Given the description of an element on the screen output the (x, y) to click on. 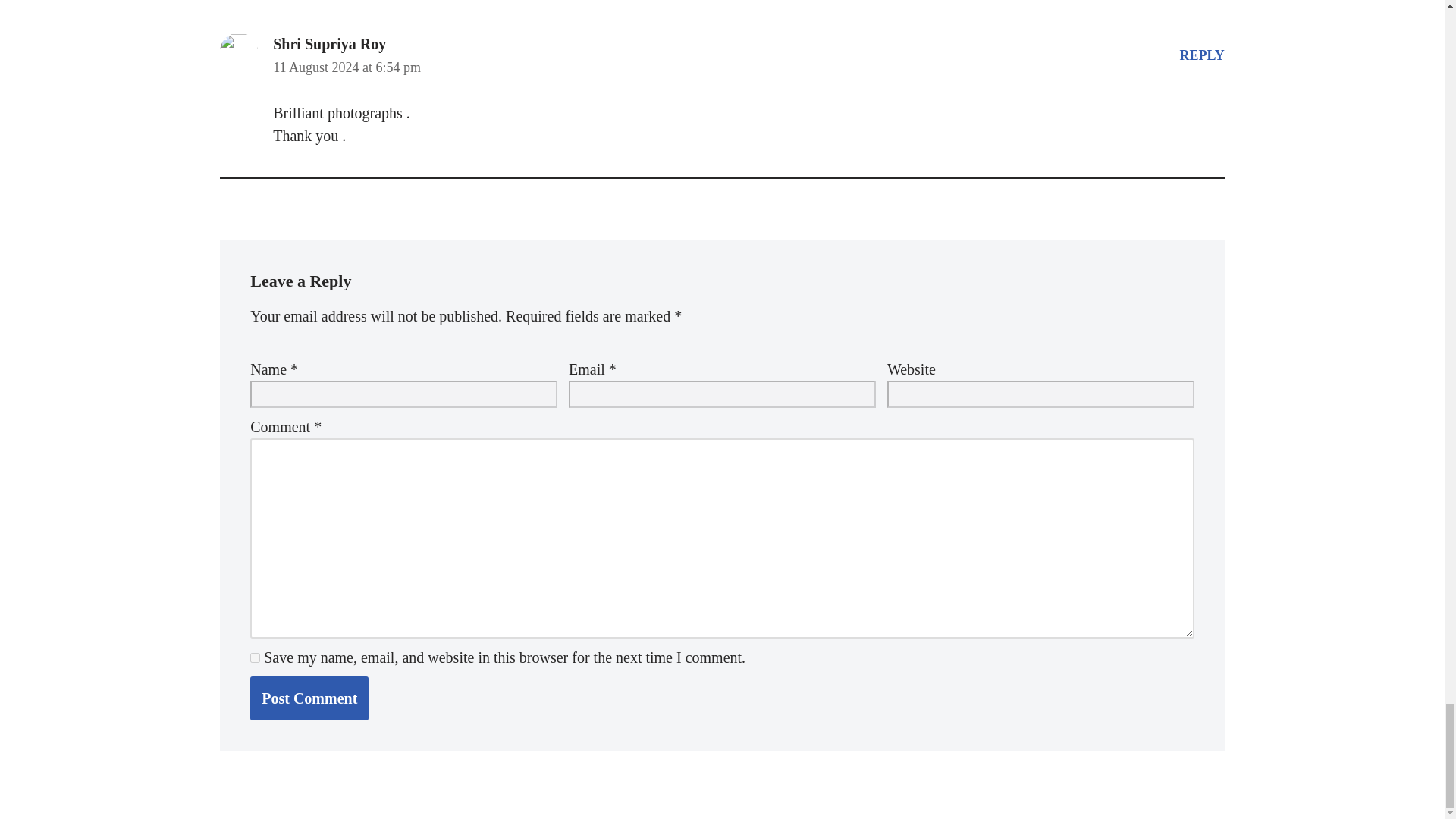
yes (255, 657)
Post Comment (309, 698)
REPLY (1201, 55)
Shri Supriya Roy (329, 44)
11 August 2024 at 6:54 pm (346, 66)
